Given the description of an element on the screen output the (x, y) to click on. 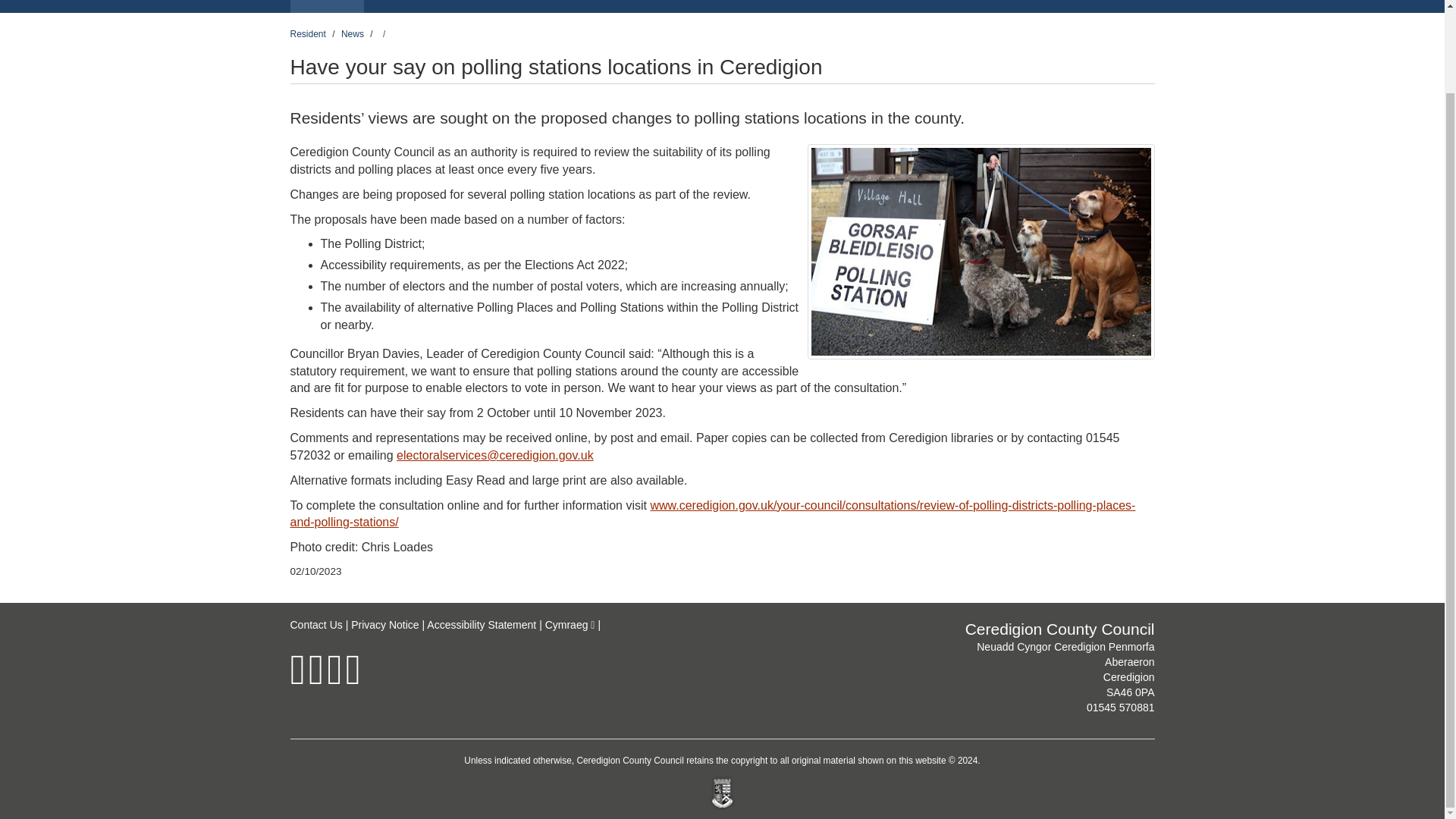
Resident (306, 33)
Facebook (296, 680)
Cymraeg (569, 624)
YouTube (353, 680)
Business (402, 6)
News (352, 33)
Cymraeg (1124, 6)
Instagram (334, 680)
Your Council (489, 6)
My Account (877, 6)
